Given the description of an element on the screen output the (x, y) to click on. 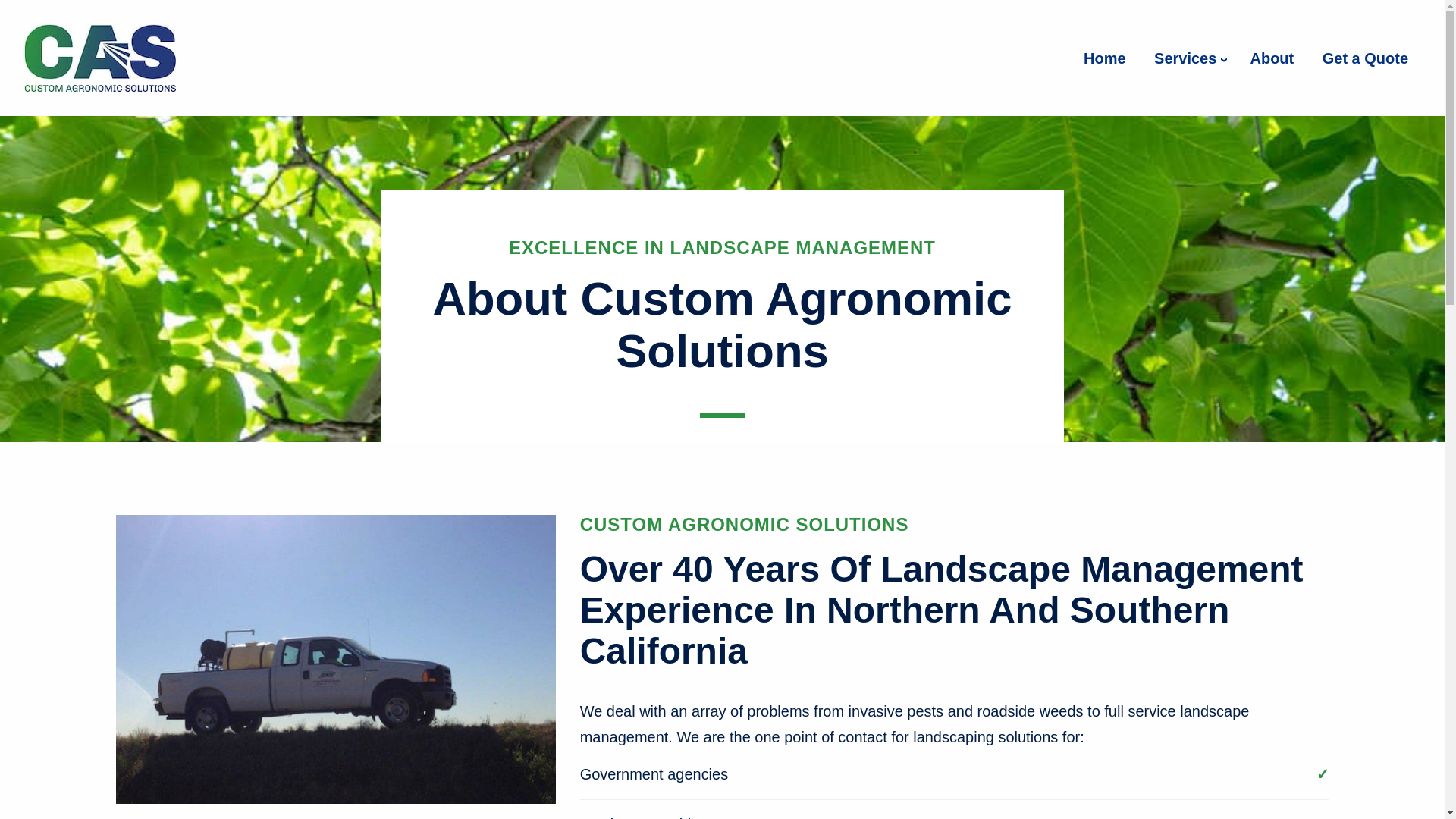
About (1272, 58)
Services (1187, 58)
Get a Quote (1365, 58)
Home (1104, 58)
